Given the description of an element on the screen output the (x, y) to click on. 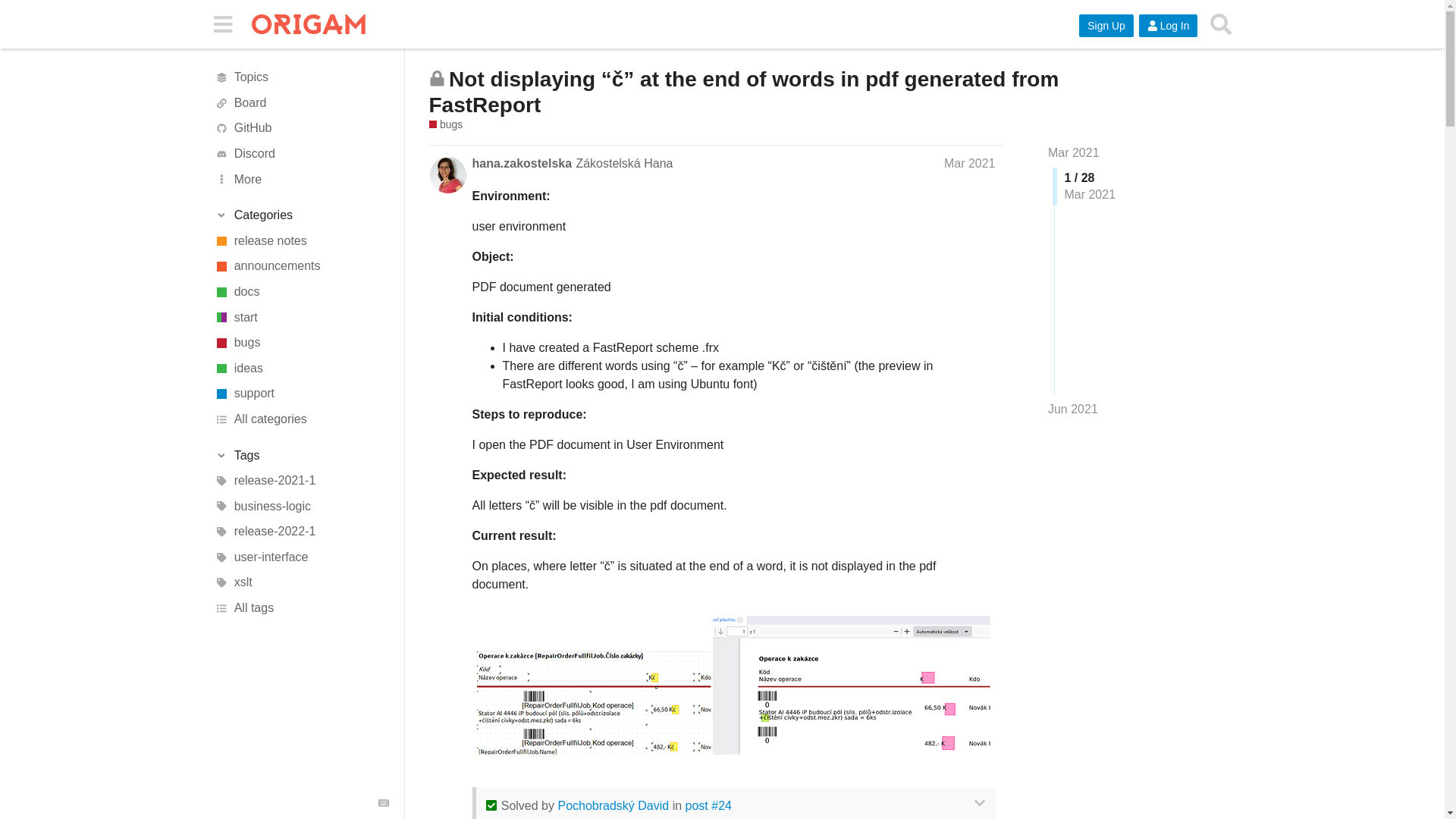
business-logic (301, 506)
Sign Up (1105, 25)
Search (1220, 23)
Tags (301, 455)
Board (301, 103)
All categories (301, 419)
ideas (301, 368)
Mar 2021 (969, 162)
announcements (301, 266)
This topic is closed; it no longer accepts new replies (437, 78)
Discord (301, 153)
GitHub (301, 128)
xslt (301, 583)
hana.zakostelska (521, 162)
